Given the description of an element on the screen output the (x, y) to click on. 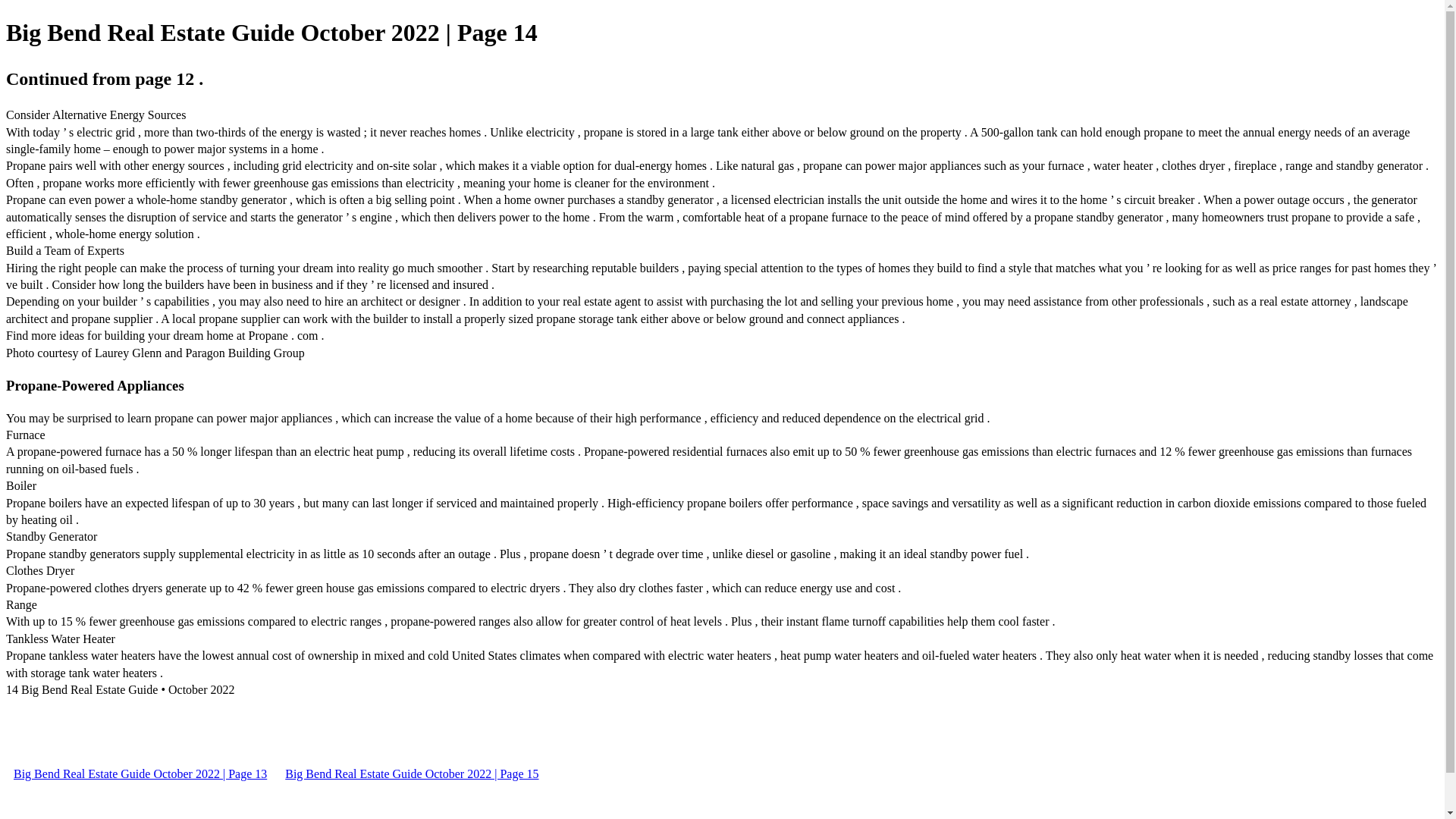
Continued from page 12 . (104, 78)
